Given the description of an element on the screen output the (x, y) to click on. 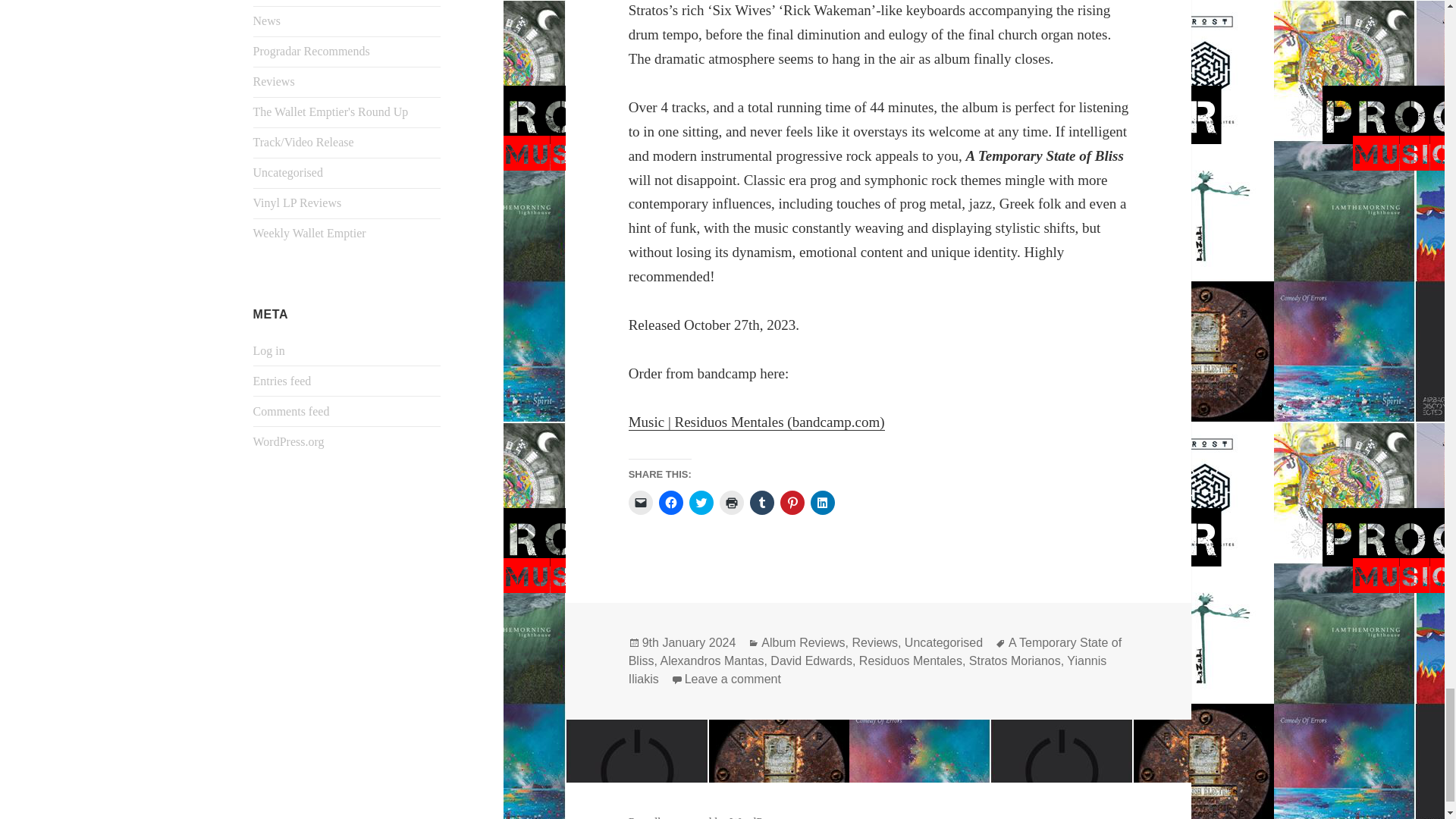
Click to share on LinkedIn (822, 502)
Click to share on Pinterest (792, 502)
Click to share on Twitter (700, 502)
Click to share on Tumblr (761, 502)
Click to email a link to a friend (640, 502)
Click to print (731, 502)
Click to share on Facebook (670, 502)
